Given the description of an element on the screen output the (x, y) to click on. 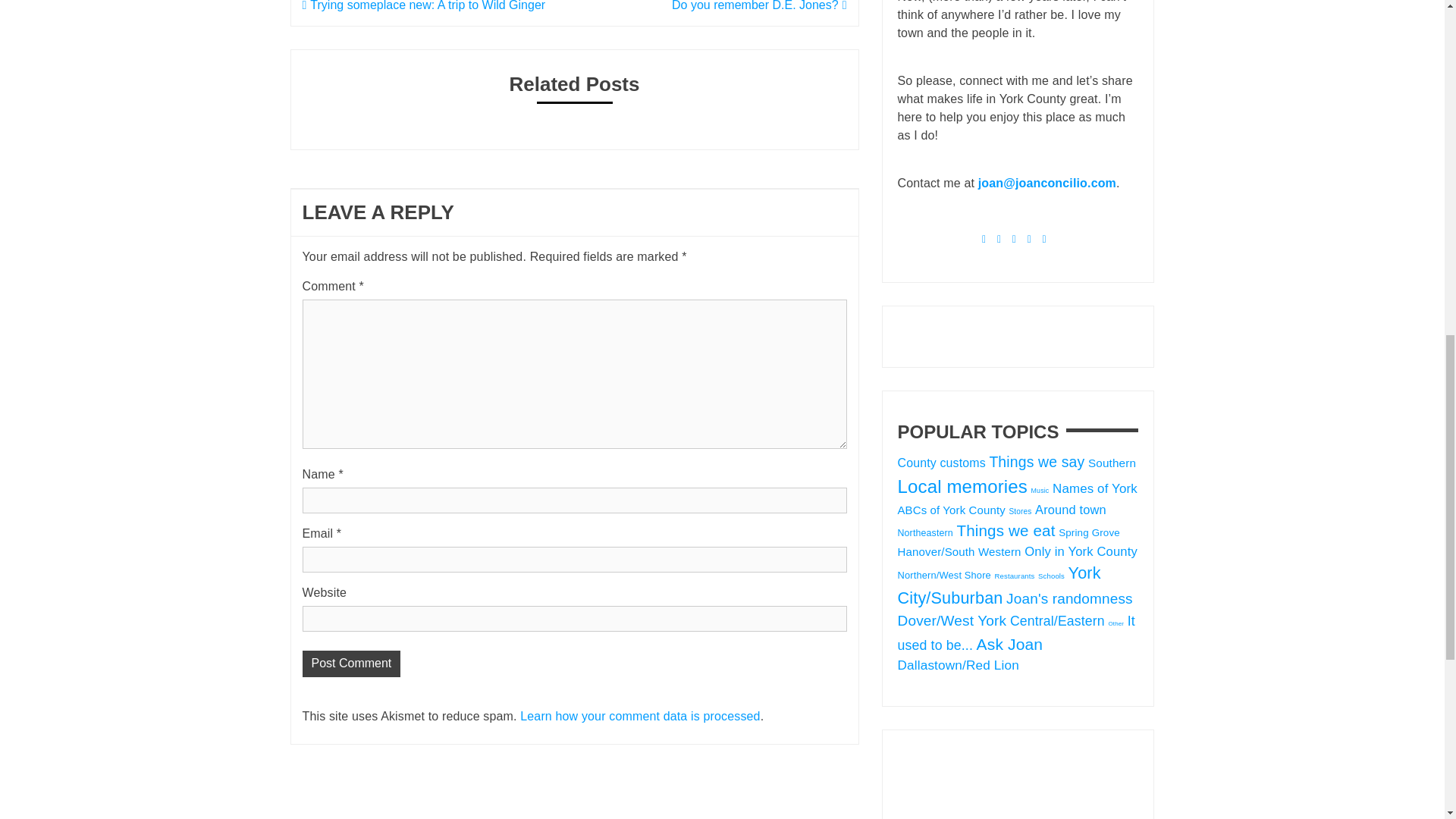
Around town (1070, 509)
Things we say (1036, 461)
Things we eat (1005, 529)
Do you remember D.E. Jones? (759, 5)
Learn how your comment data is processed (639, 716)
Names of York (1094, 488)
Post Comment (350, 663)
Local memories (962, 485)
Northeastern (925, 532)
ABCs of York County (952, 509)
Post Comment (350, 663)
County customs (941, 462)
Stores (1019, 510)
Music (1039, 490)
Trying someplace new: A trip to Wild Ginger (422, 5)
